Given the description of an element on the screen output the (x, y) to click on. 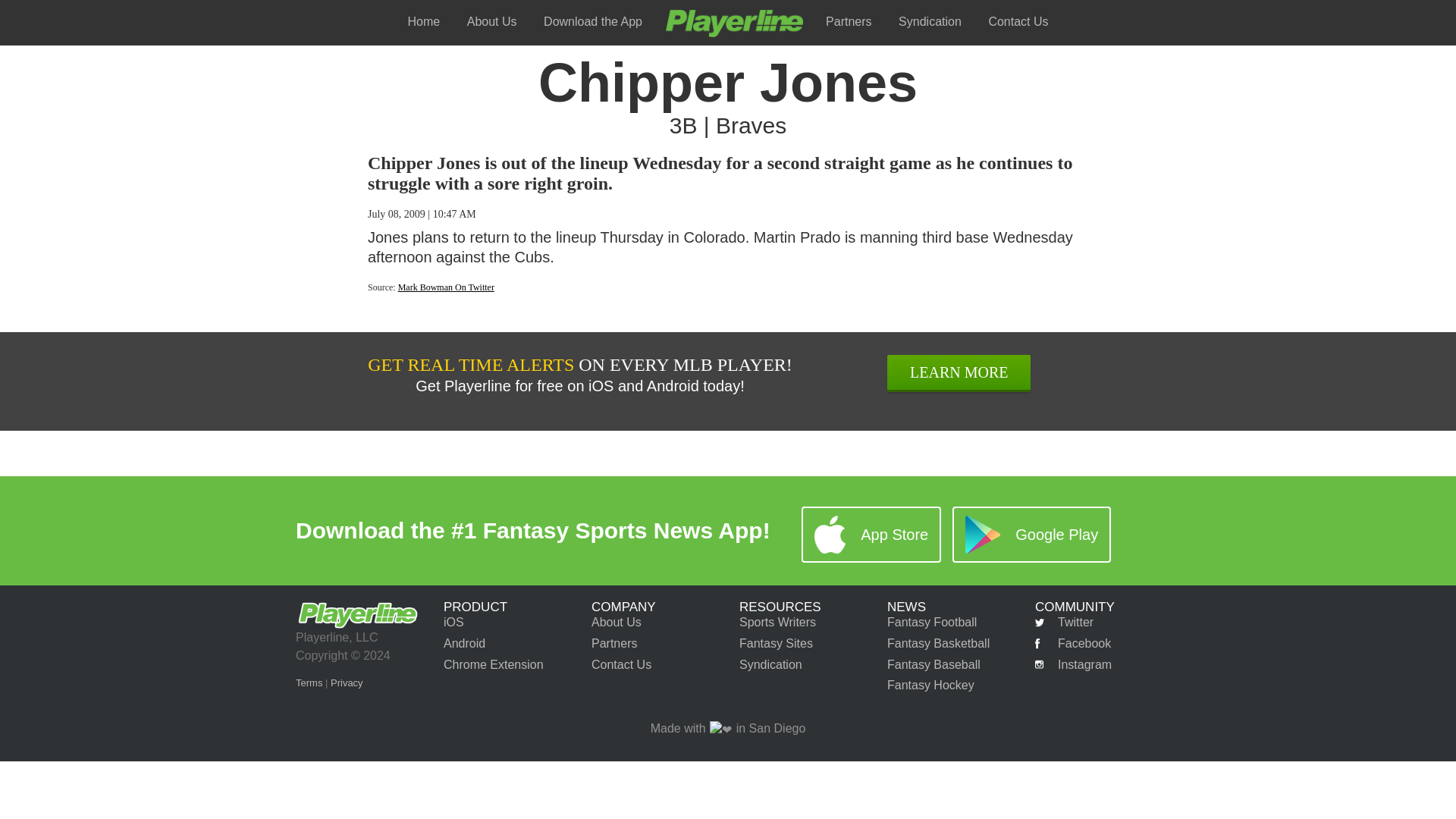
Privacy (346, 682)
Partners (614, 643)
Android (464, 643)
Instagram (1073, 665)
Syndication (770, 664)
Sports Writers (777, 621)
iOS (454, 621)
PlayerLine (734, 22)
Facebook (1072, 643)
Chrome Extension (493, 664)
